Given the description of an element on the screen output the (x, y) to click on. 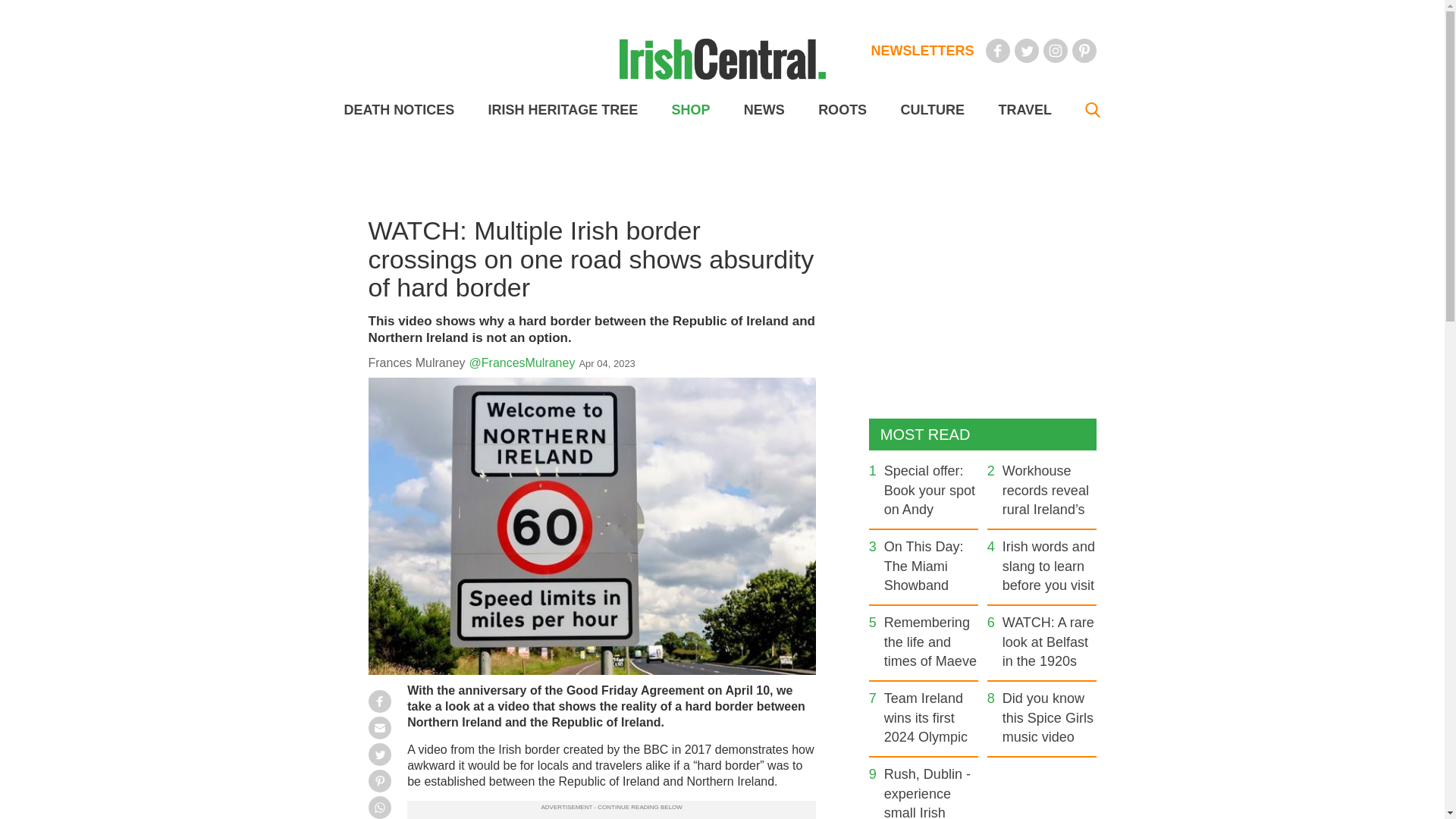
IRISH HERITAGE TREE (562, 109)
TRAVEL (1024, 109)
DEATH NOTICES (398, 109)
ROOTS (842, 109)
NEWSLETTERS (922, 50)
NEWS (764, 109)
CULTURE (931, 109)
SHOP (690, 109)
